Given the description of an element on the screen output the (x, y) to click on. 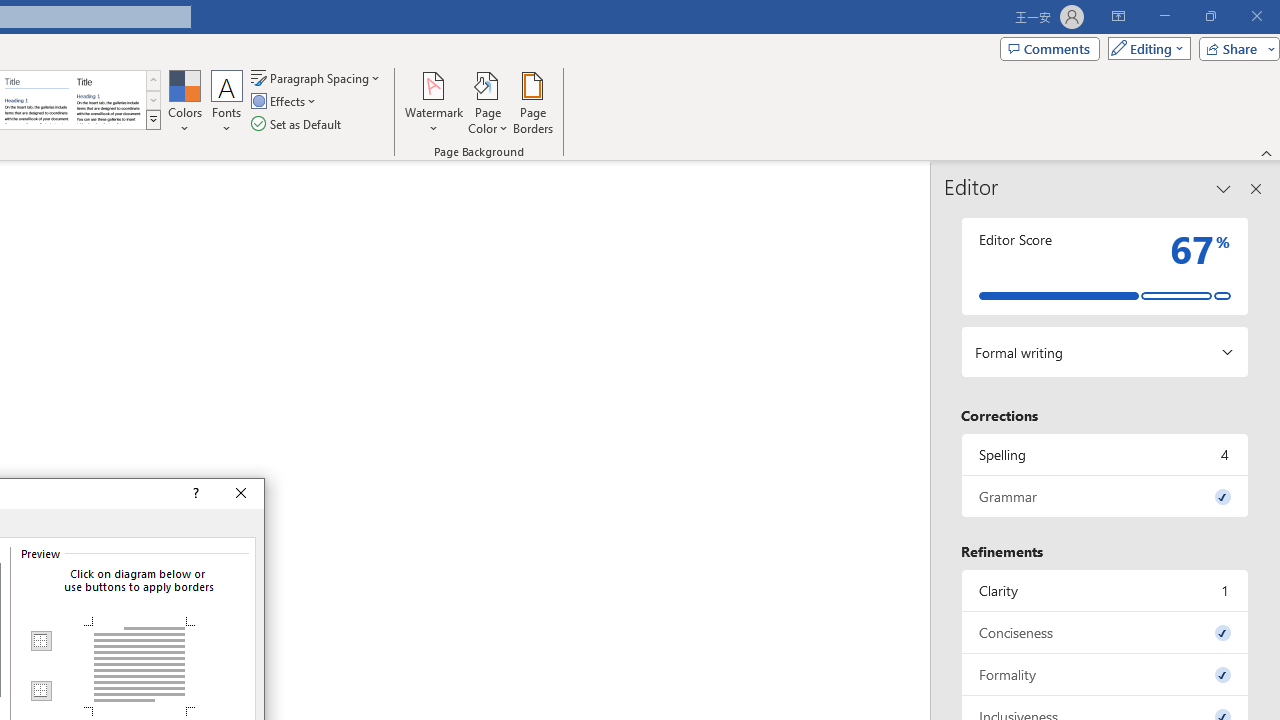
Row Down (153, 100)
Grammar, 0 issues. Press space or enter to review items. (1105, 495)
MSO Generic Control Container (40, 641)
Editing (1144, 47)
Bottom Border (40, 690)
Top Border (40, 641)
Conciseness, 0 issues. Press space or enter to review items. (1105, 632)
Style Set (153, 120)
Formality, 0 issues. Press space or enter to review items. (1105, 673)
Editor Score 67% (1105, 266)
